Given the description of an element on the screen output the (x, y) to click on. 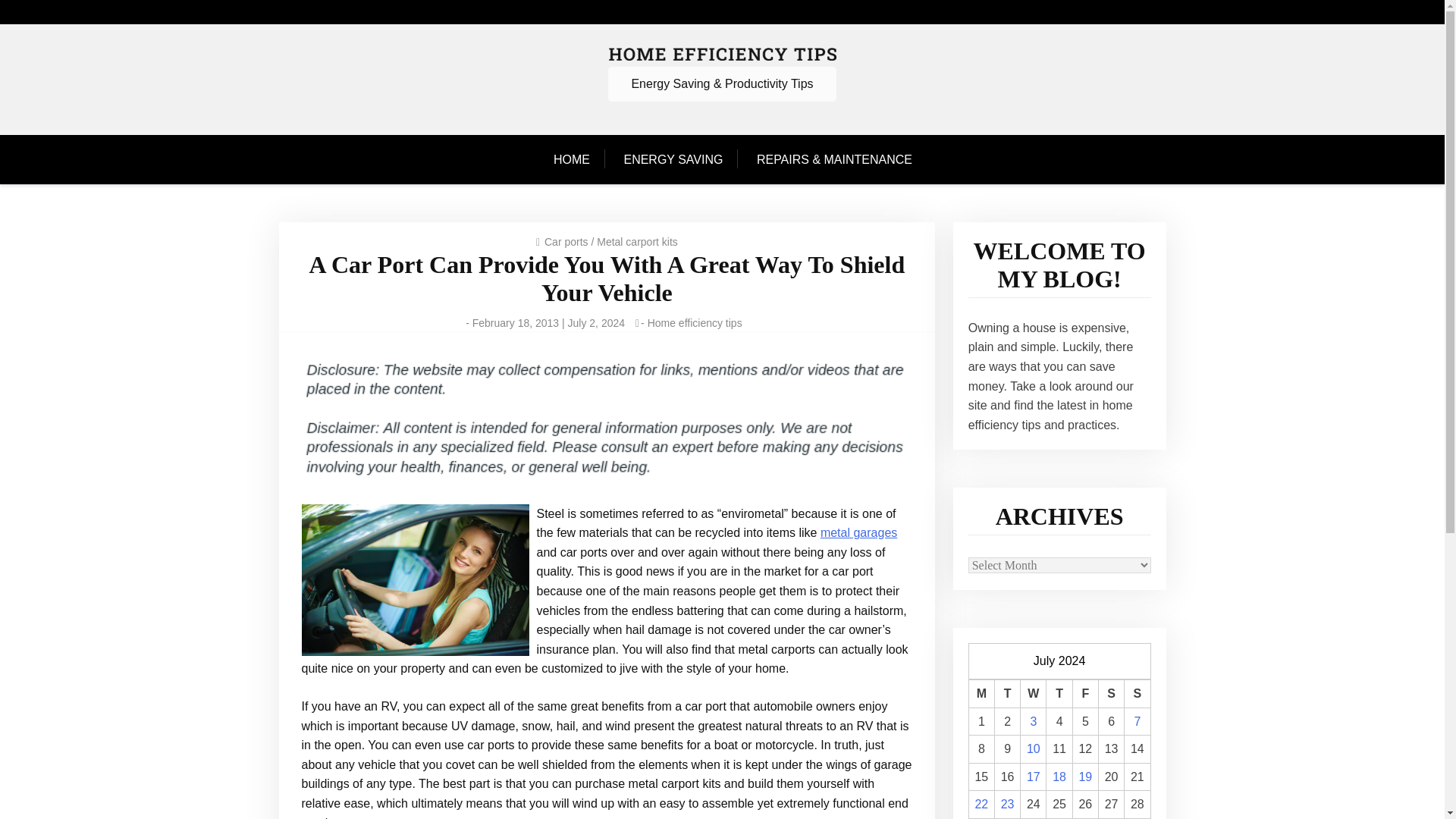
7 (1137, 721)
Wednesday (1033, 694)
Monday (981, 694)
Car ports (566, 241)
17 (1033, 776)
metal garages (858, 532)
Thursday (1058, 694)
Metal carport kits (637, 241)
Sunday (1137, 694)
23 (1007, 803)
10 (1033, 748)
3 (1032, 721)
Tuesday (1007, 694)
ENERGY SAVING (673, 160)
18 (1058, 776)
